Given the description of an element on the screen output the (x, y) to click on. 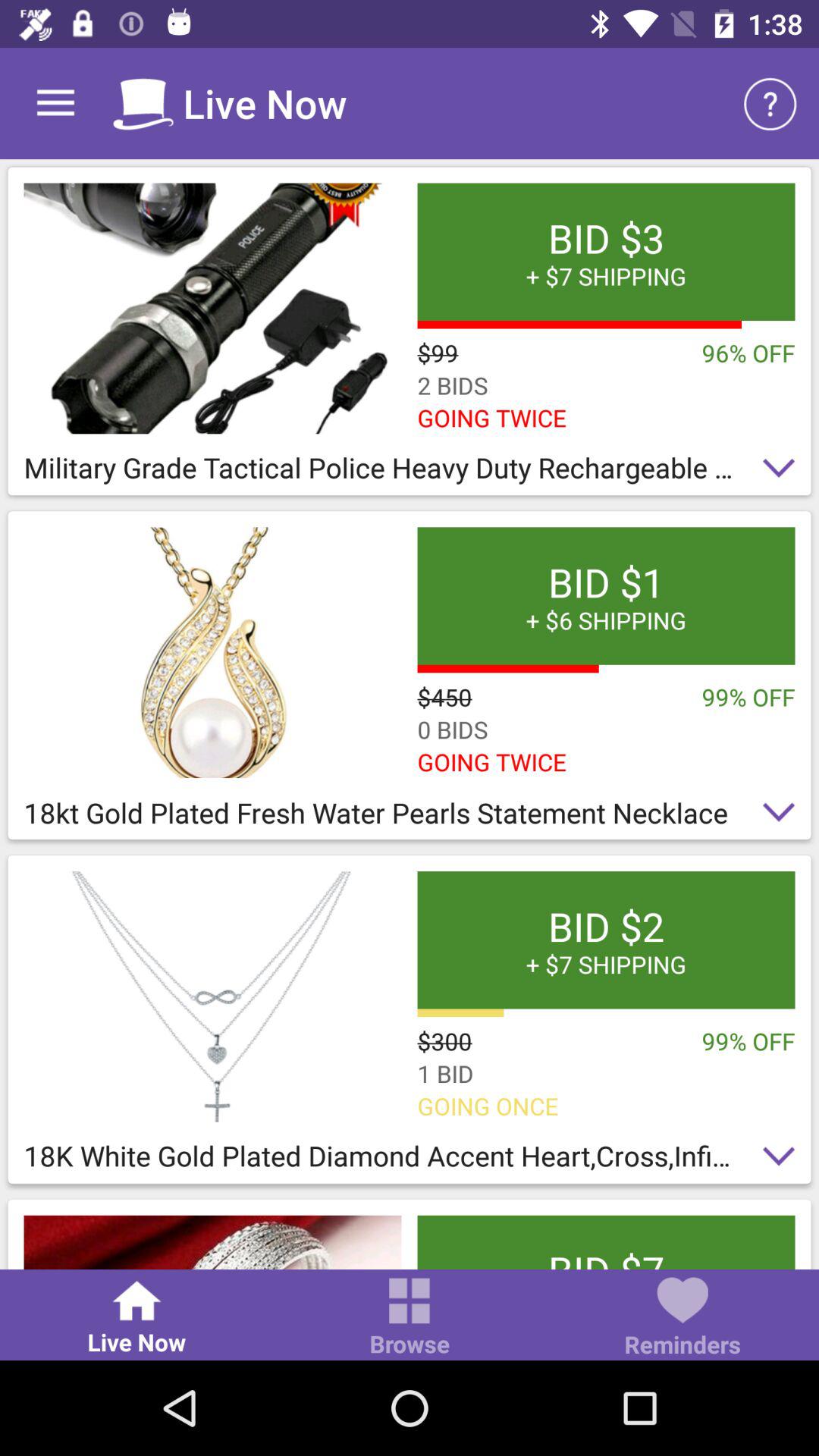
scroll to military grade tactical (409, 472)
